Given the description of an element on the screen output the (x, y) to click on. 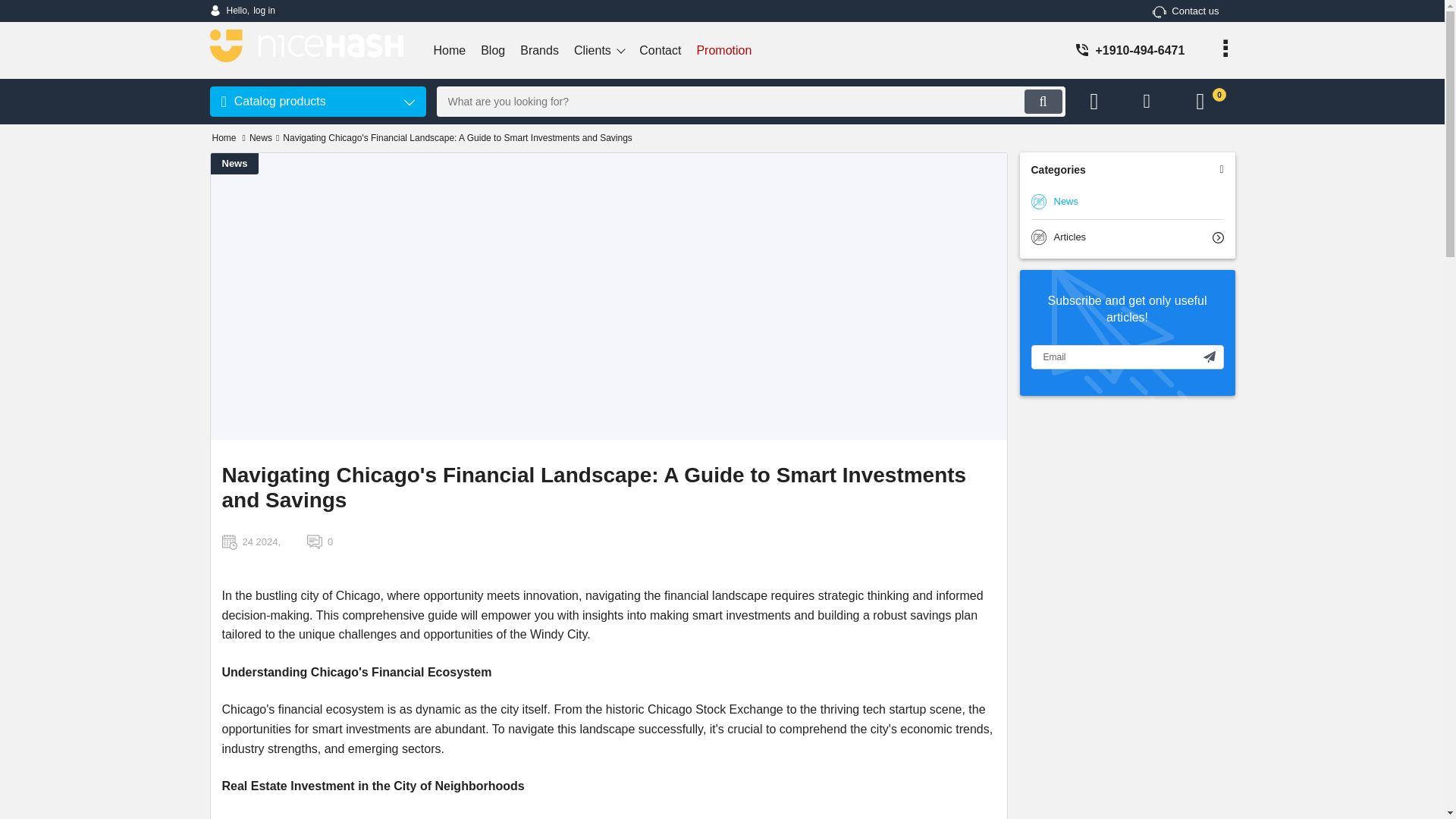
Brands (539, 50)
Home (223, 137)
Home (223, 137)
Subscribe (1209, 357)
Home (450, 50)
News (1127, 201)
News (235, 163)
Blog (492, 50)
Count comments (320, 541)
log in (242, 10)
Contact (242, 10)
Contact us (659, 50)
Promotion (1185, 10)
News (723, 50)
